Given the description of an element on the screen output the (x, y) to click on. 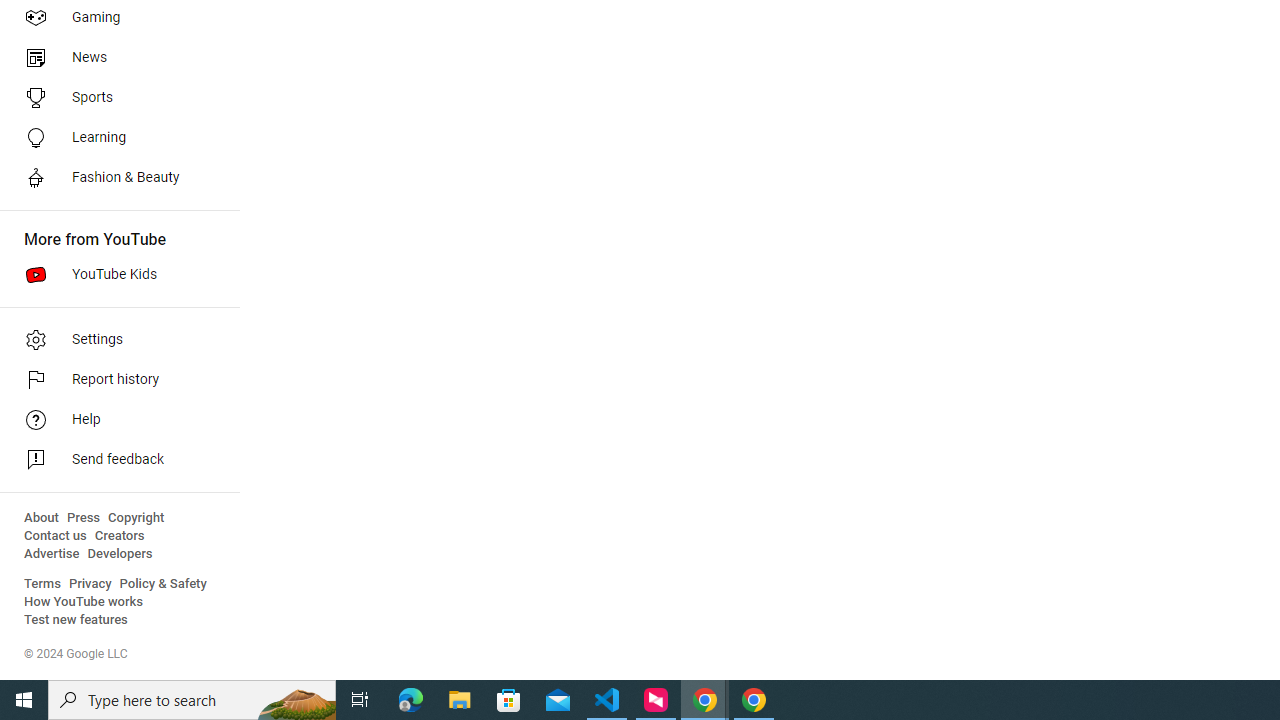
Learning (113, 137)
Send feedback (113, 459)
Test new features (76, 620)
Fashion & Beauty (113, 177)
Sports (113, 97)
Copyright (136, 518)
Policy & Safety (163, 584)
News (113, 57)
YouTube Kids (113, 274)
Developers (120, 554)
Press (83, 518)
How YouTube works (83, 602)
About (41, 518)
